Given the description of an element on the screen output the (x, y) to click on. 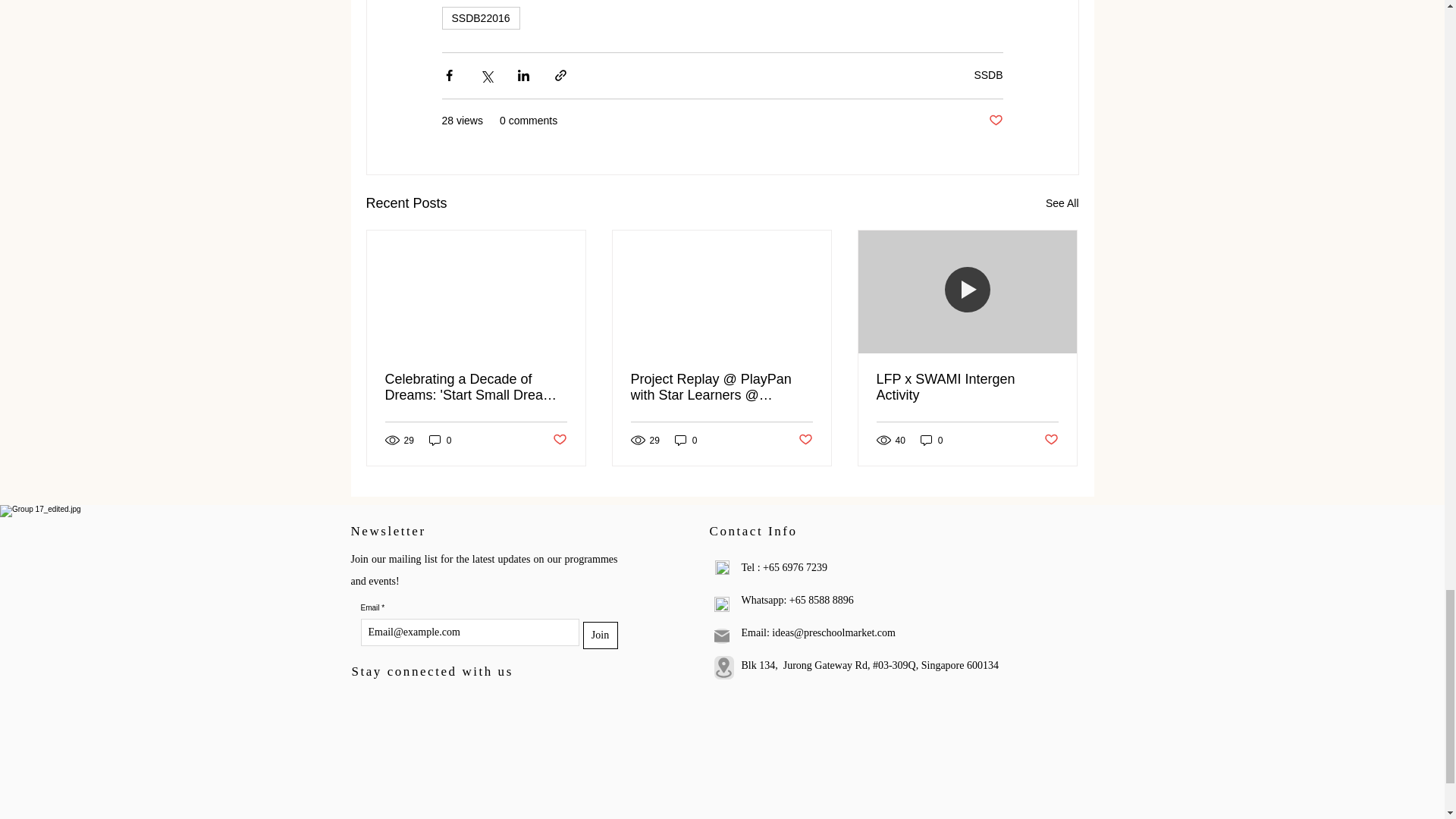
SSDB22016 (480, 17)
Icon ionic-logo-whatsapp.png (721, 604)
Icon awesome-phone-alt.png (721, 567)
